Given the description of an element on the screen output the (x, y) to click on. 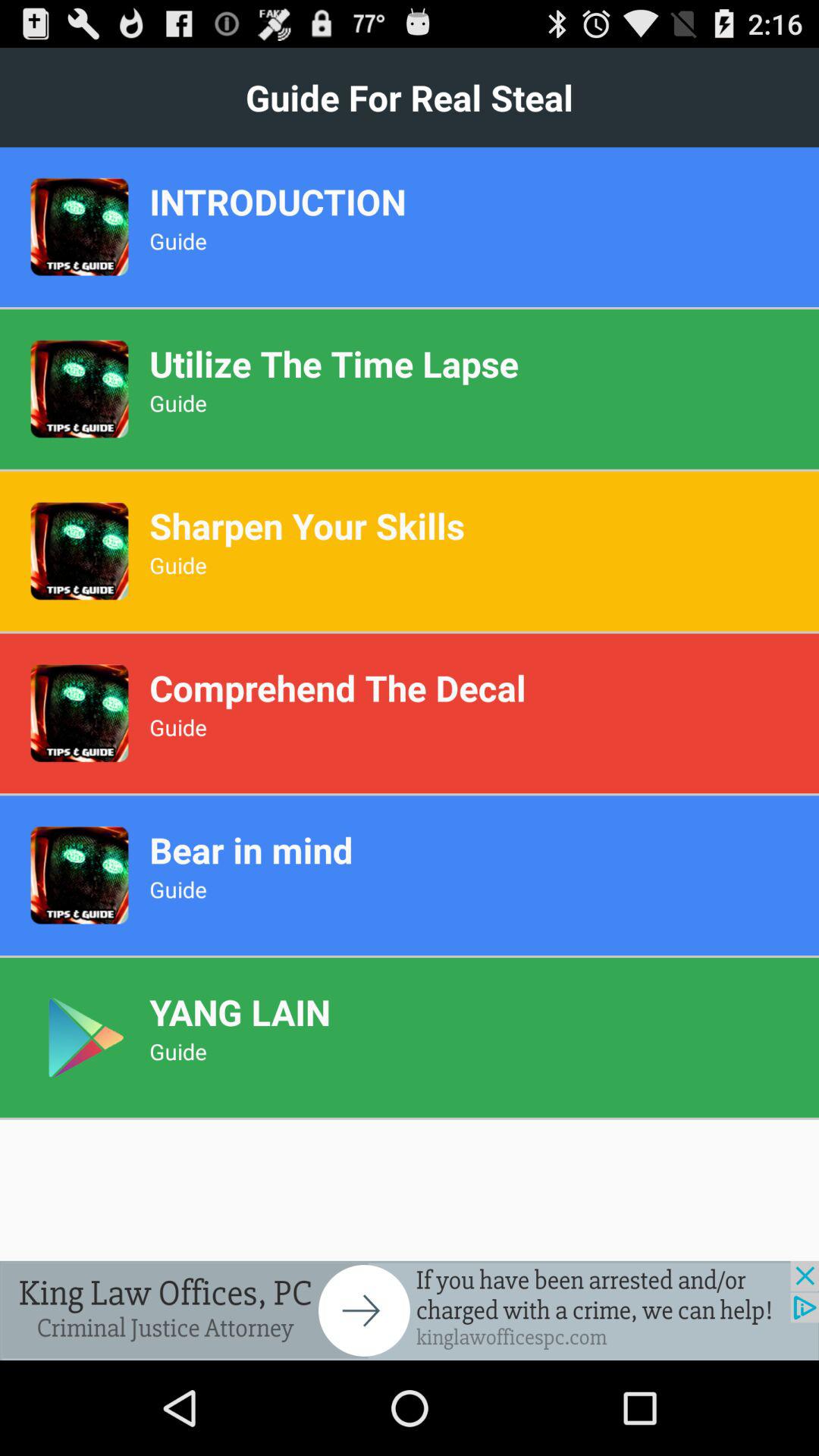
toggle autoplay option (409, 1310)
